Given the description of an element on the screen output the (x, y) to click on. 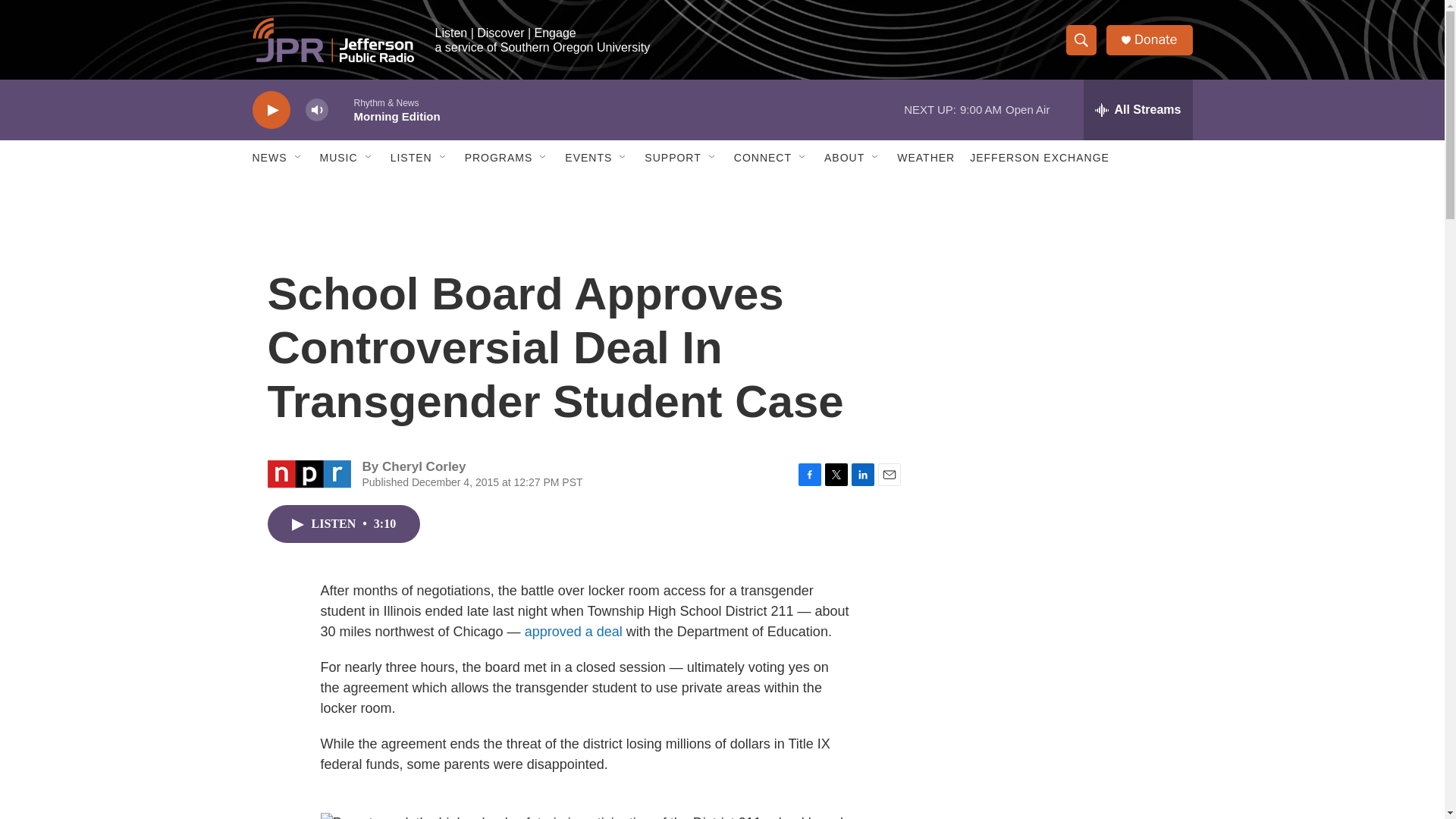
3rd party ad content (1062, 536)
3rd party ad content (1062, 316)
3rd party ad content (1062, 740)
